Given the description of an element on the screen output the (x, y) to click on. 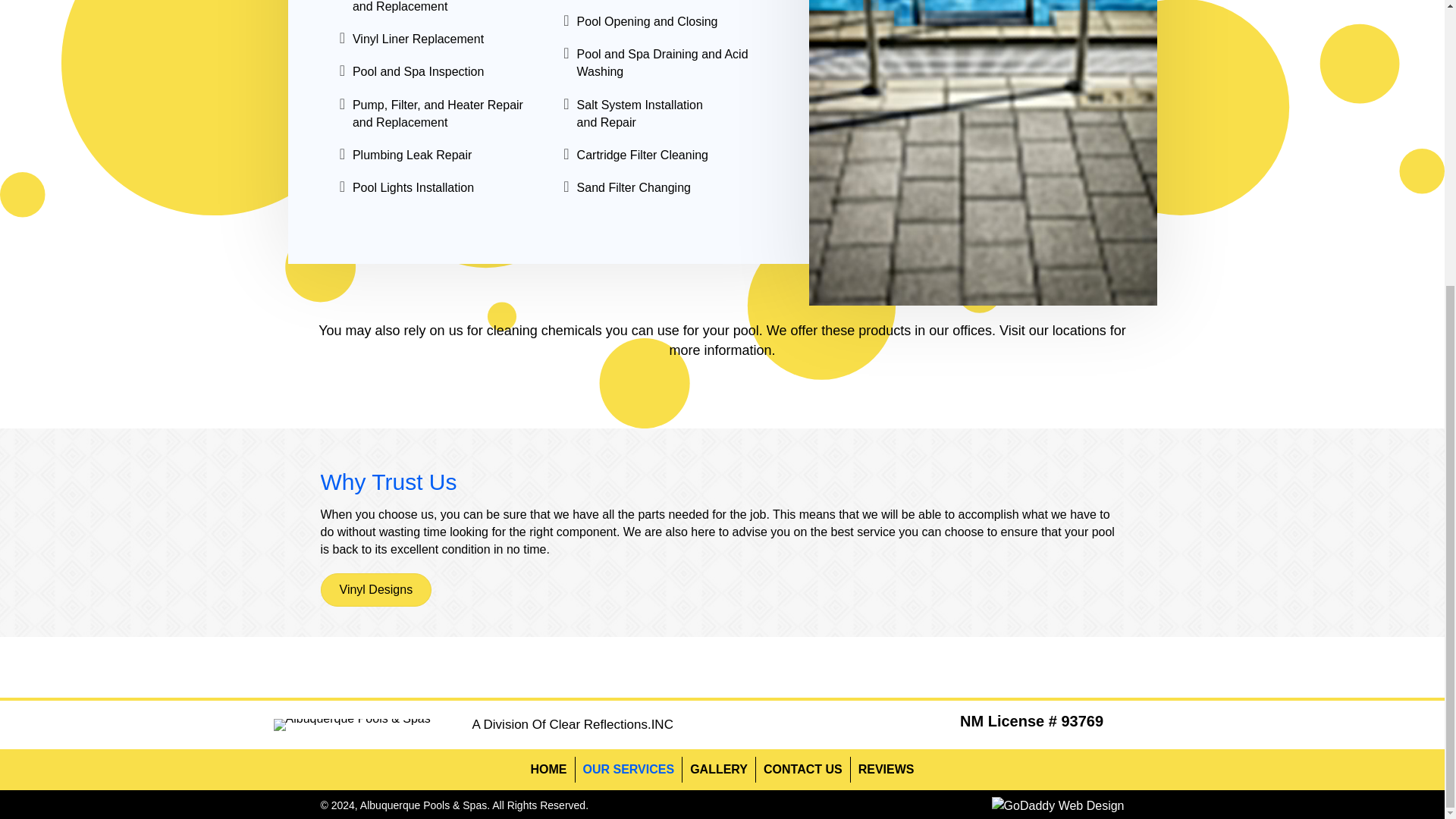
HOME (548, 769)
REVIEWS (885, 769)
A Division Of Clear Reflections.INC (571, 724)
OUR SERVICES (628, 769)
Vinyl Designs (375, 589)
CONTACT US (802, 769)
GALLERY (718, 769)
A Division Of Clear Reflections.INC (571, 724)
